Given the description of an element on the screen output the (x, y) to click on. 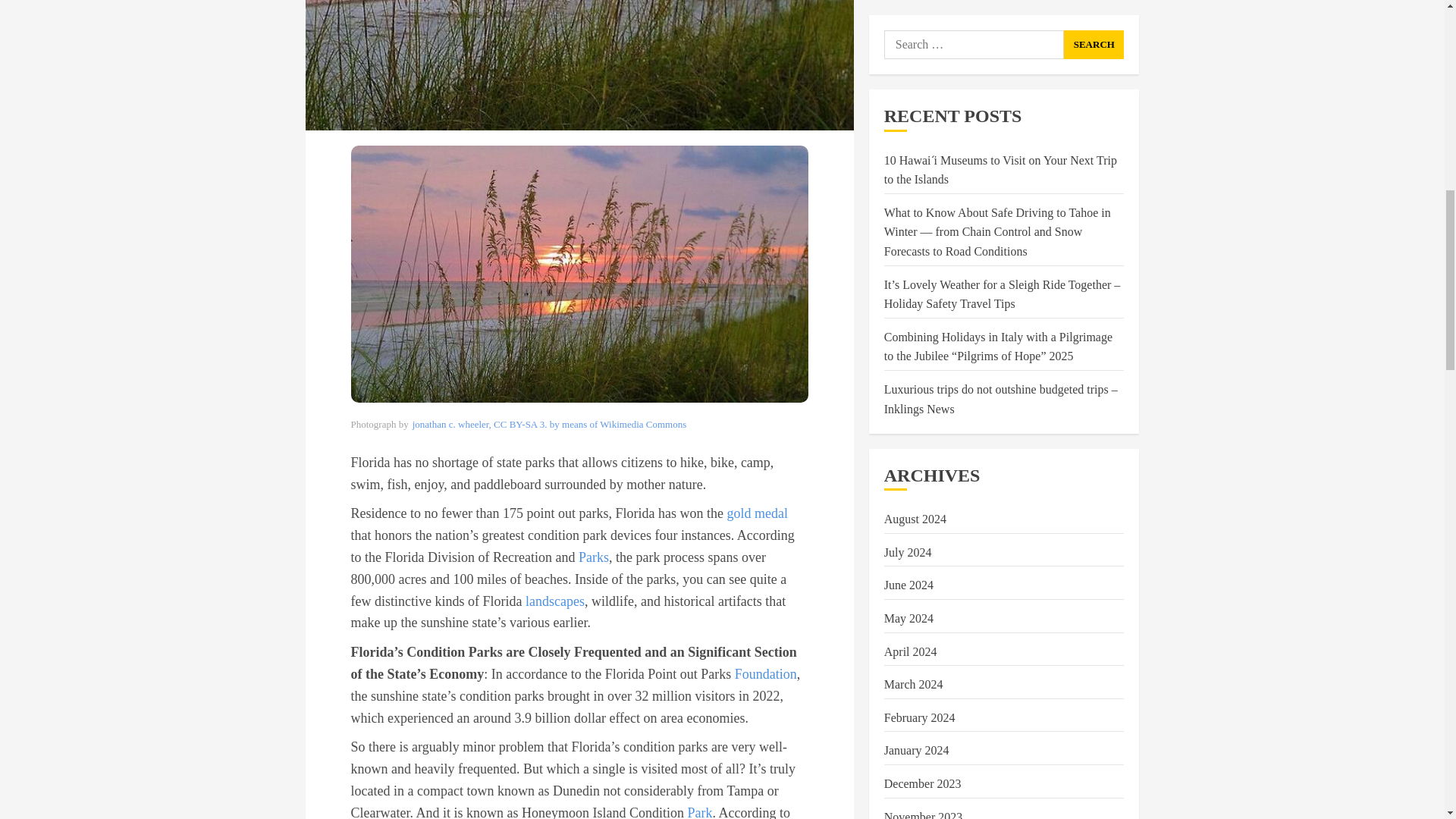
Parks (593, 557)
gold medal (756, 513)
landscapes (555, 601)
Park (699, 812)
Foundation (765, 673)
